Given the description of an element on the screen output the (x, y) to click on. 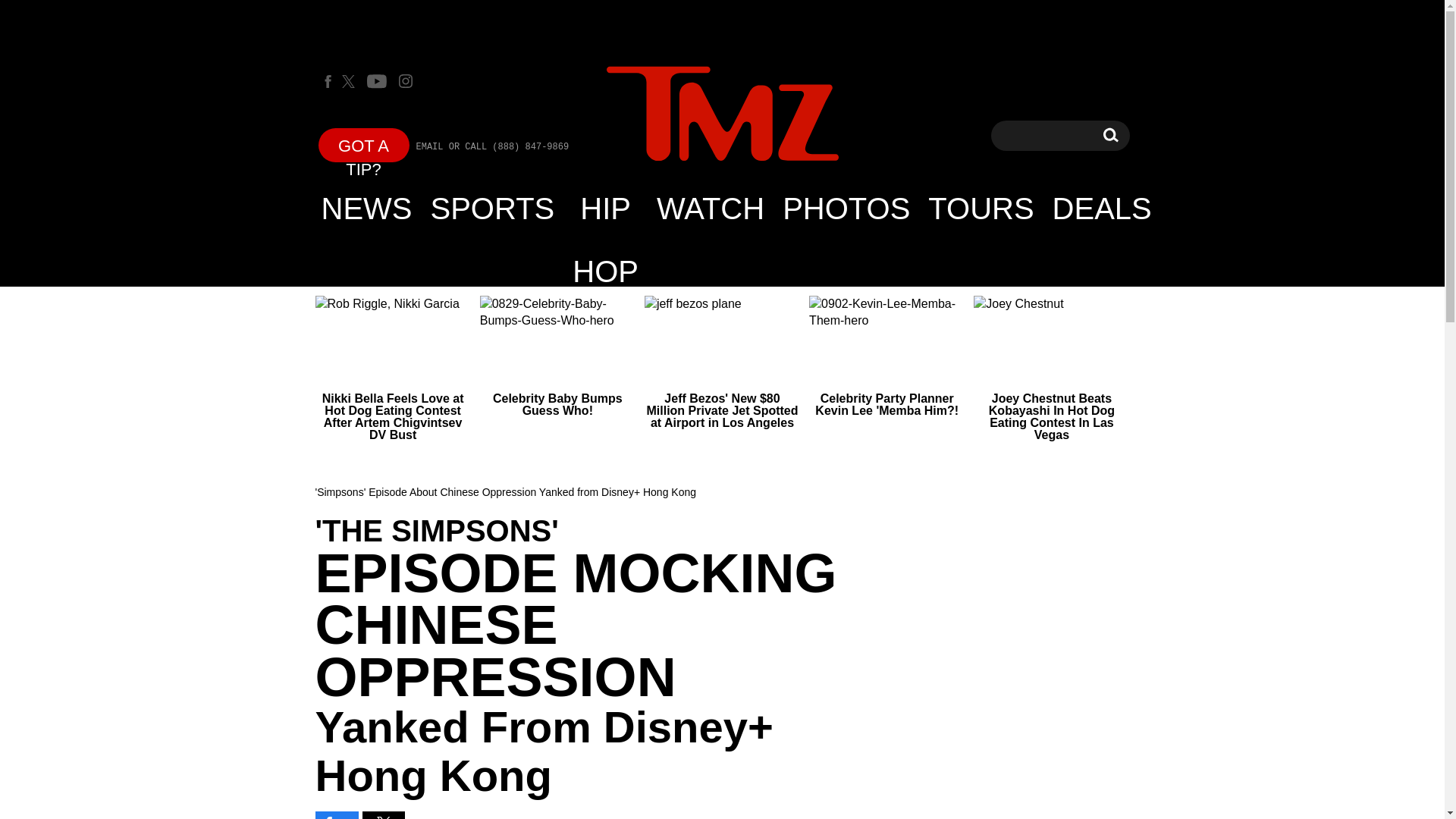
SPORTS (493, 207)
GOT A TIP? (363, 144)
TMZ (722, 115)
DEALS (1110, 135)
TMZ (1101, 207)
WATCH (722, 113)
Search (710, 207)
Skip to main content (1110, 134)
